Given the description of an element on the screen output the (x, y) to click on. 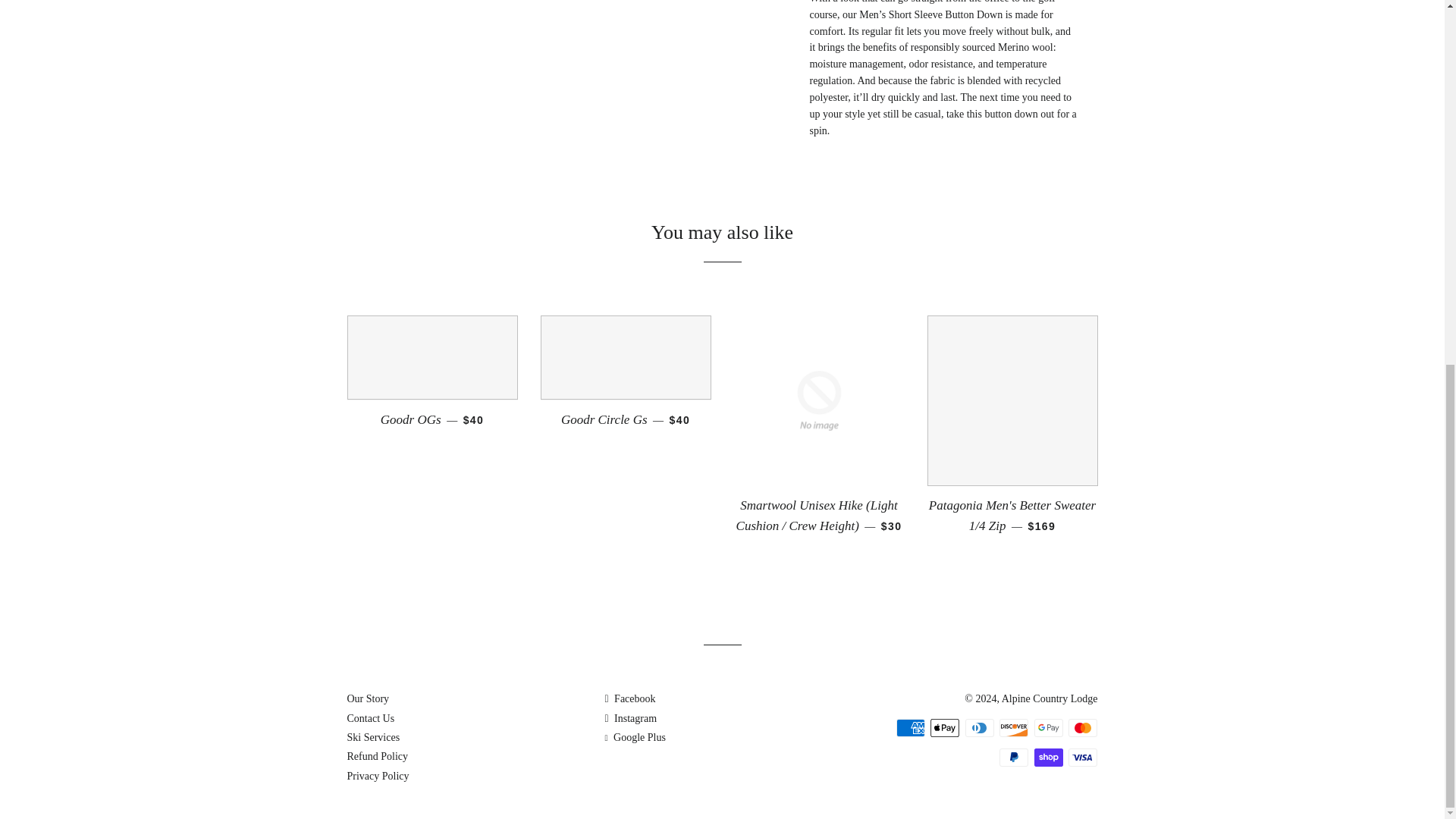
Google Pay (1047, 728)
Apple Pay (944, 728)
Alpine Country Lodge on Facebook (629, 698)
Alpine Country Lodge on Instagram (630, 717)
Mastercard (1082, 728)
Diners Club (979, 728)
Alpine Country Lodge on Google Plus (634, 737)
Shop Pay (1047, 756)
Visa (1082, 756)
PayPal (1012, 756)
Discover (1012, 728)
American Express (910, 728)
